Given the description of an element on the screen output the (x, y) to click on. 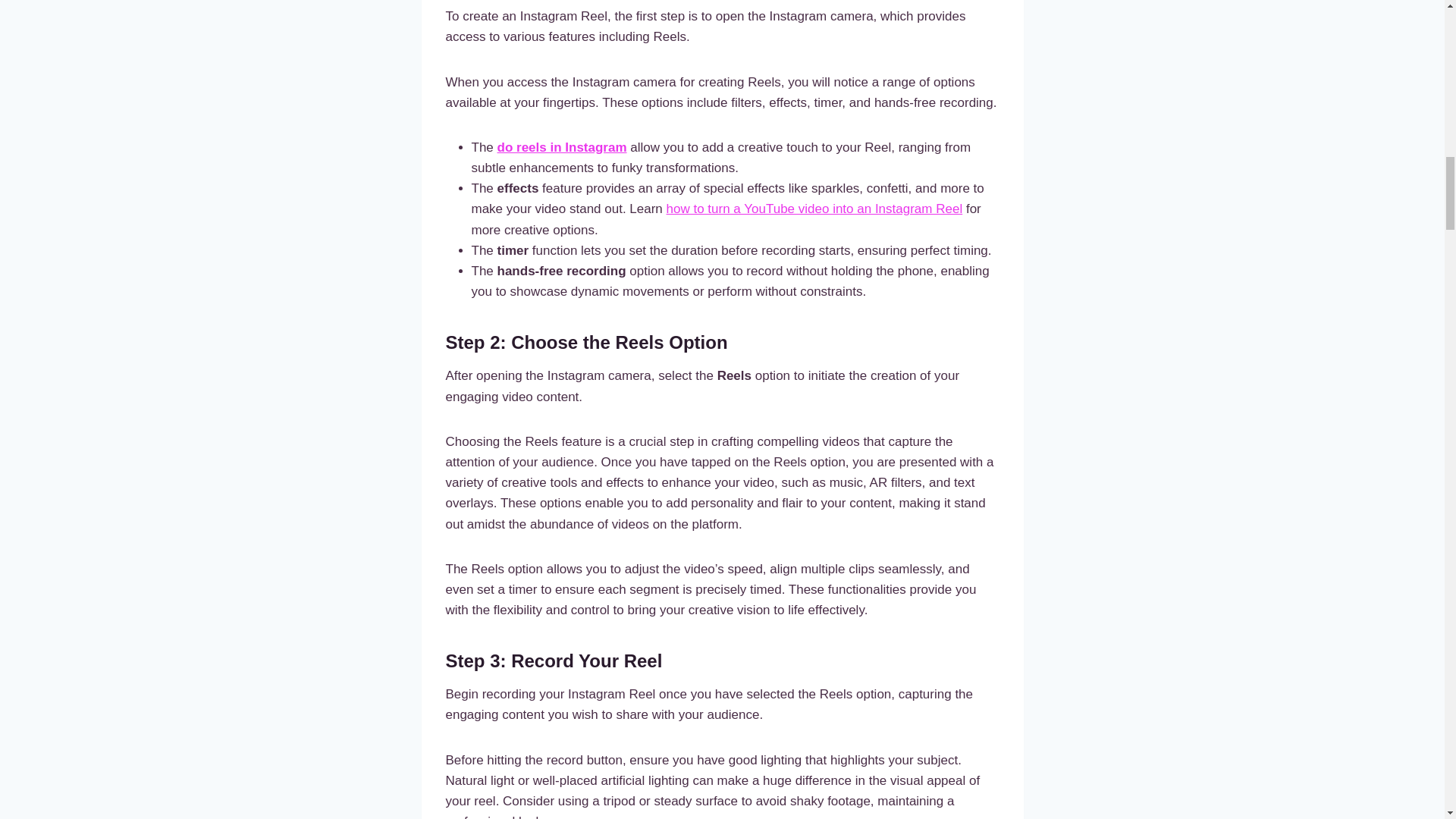
how to turn a YouTube video into an Instagram Reel (814, 208)
do reels in Instagram (562, 147)
